Given the description of an element on the screen output the (x, y) to click on. 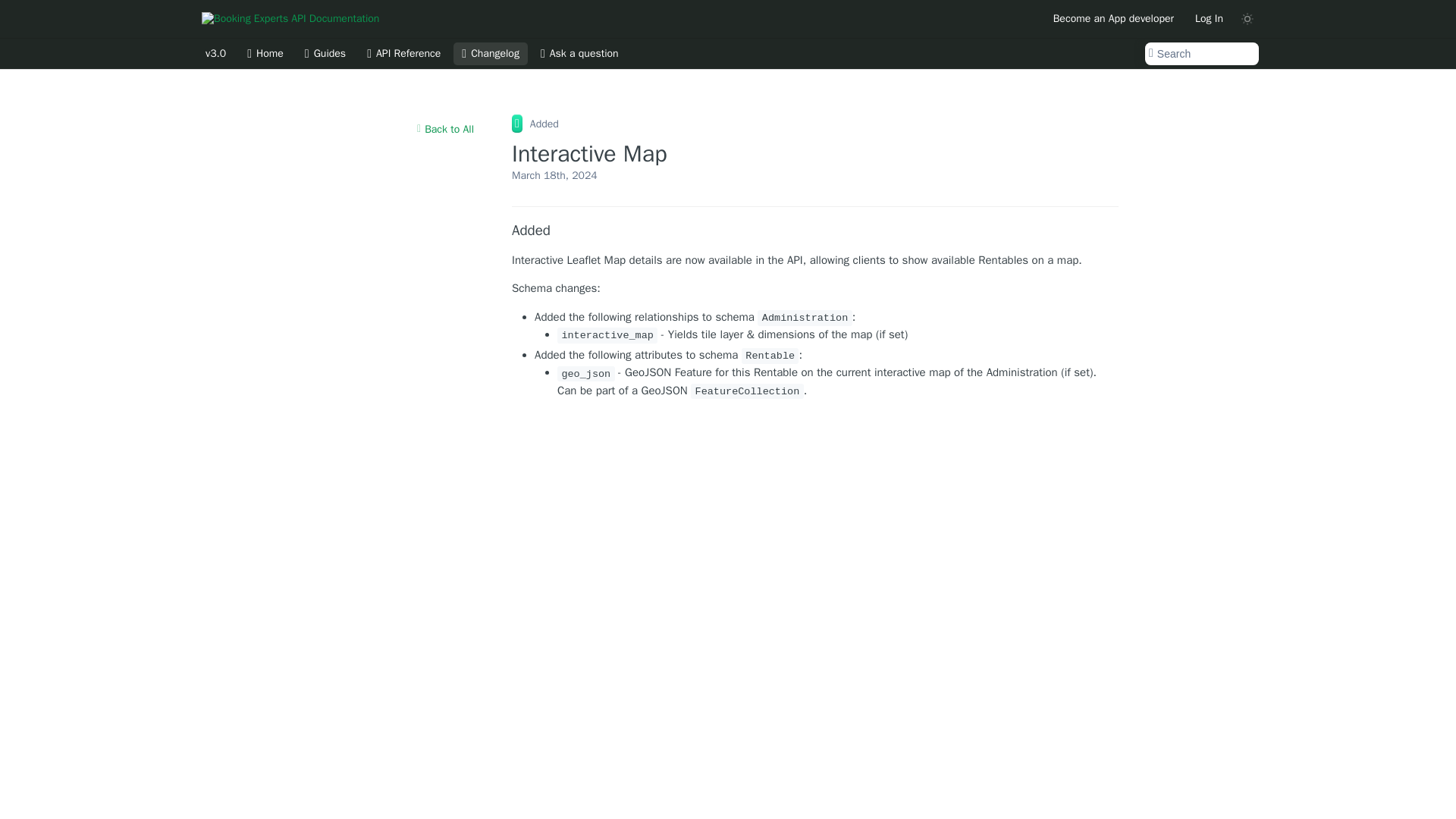
Log In (1208, 18)
Back to All (445, 128)
Become an App developer (1113, 18)
Home (265, 53)
Search (1201, 53)
API Reference (403, 53)
Added (815, 230)
Guides (325, 53)
Ask a question (579, 53)
Changelog (489, 53)
